Given the description of an element on the screen output the (x, y) to click on. 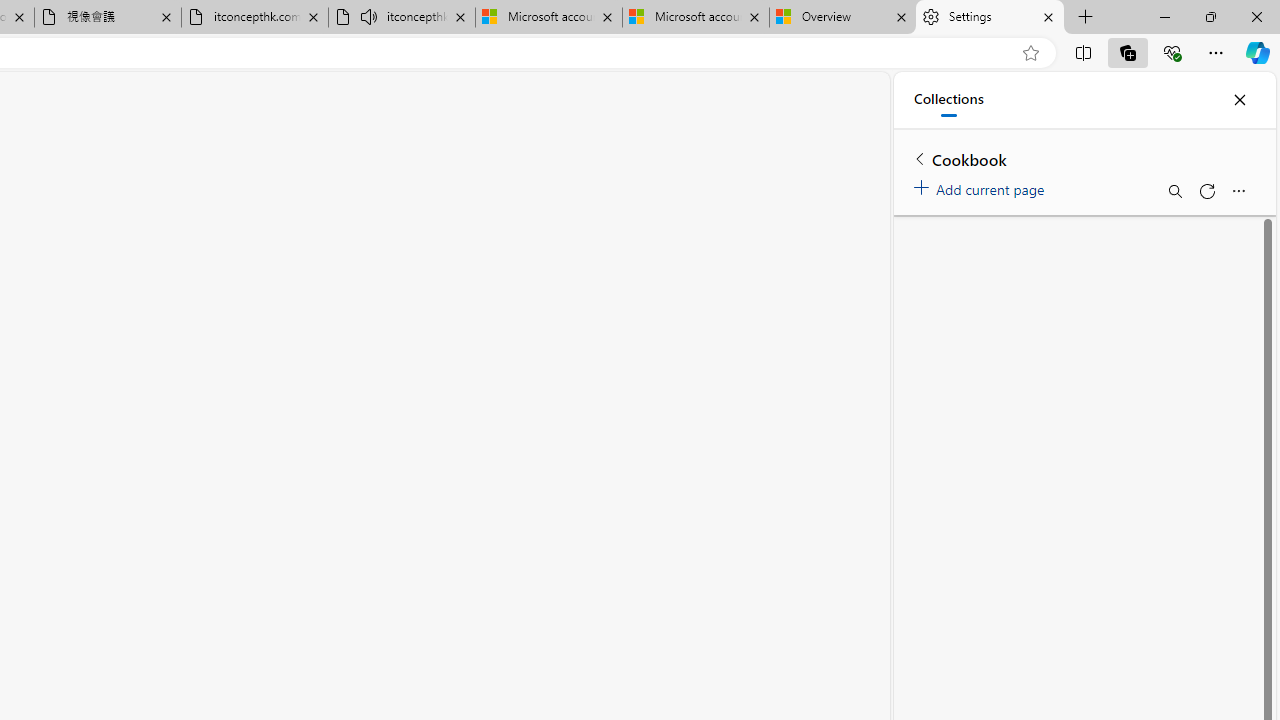
itconcepthk.com/projector_solutions.mp4 (254, 17)
Add current page (982, 186)
Mute tab (368, 16)
More options menu (1238, 190)
Overview (843, 17)
itconcepthk.com/projector_solutions.mp4 - Audio playing (401, 17)
